Given the description of an element on the screen output the (x, y) to click on. 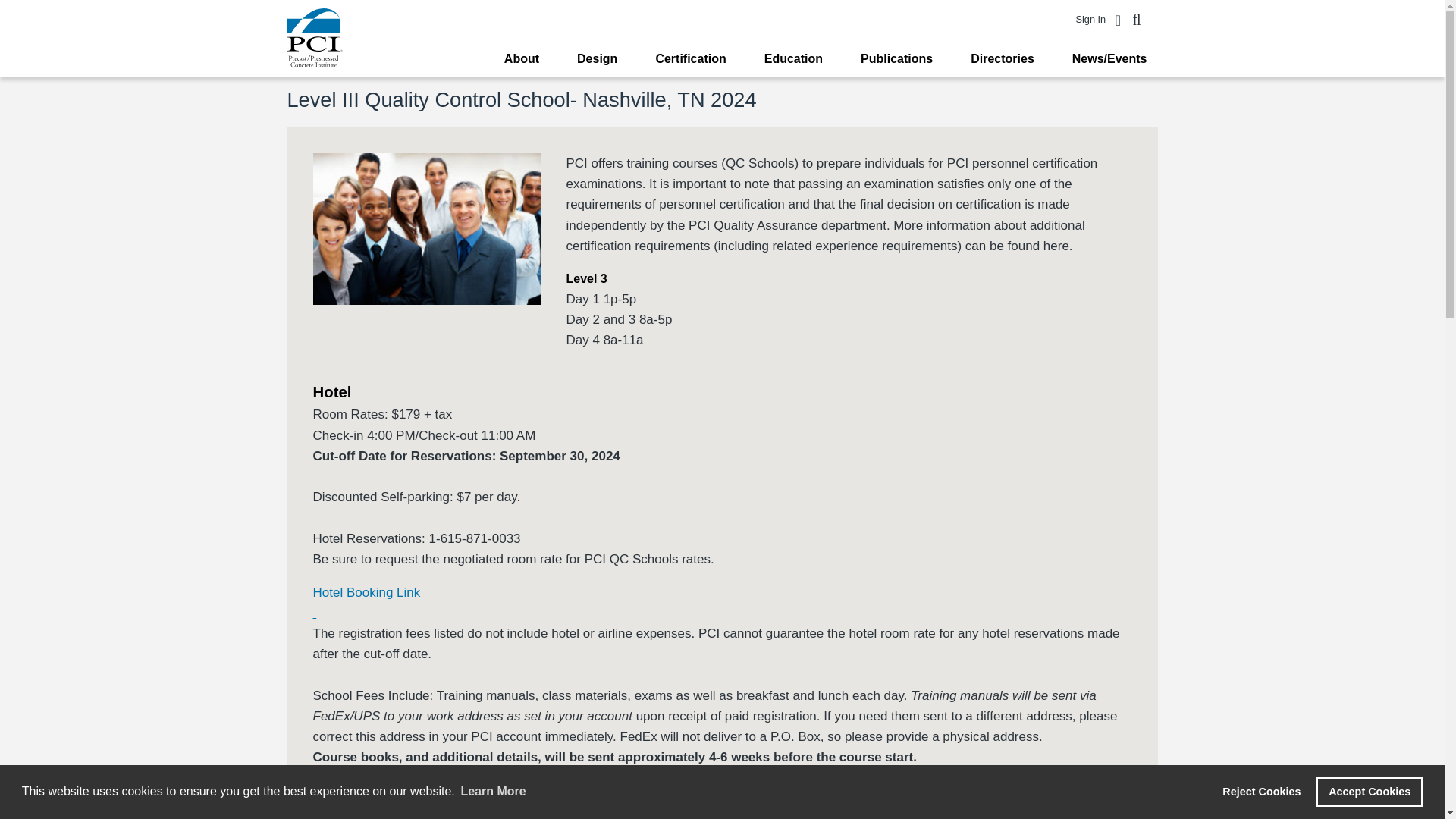
Education (793, 58)
Directories (1002, 58)
Learn More (493, 791)
Hotel Booking Link (366, 592)
Sign In (1090, 19)
Publications (895, 58)
Home (314, 37)
Accept Cookies (1369, 791)
About (521, 58)
Certification (689, 58)
